Given the description of an element on the screen output the (x, y) to click on. 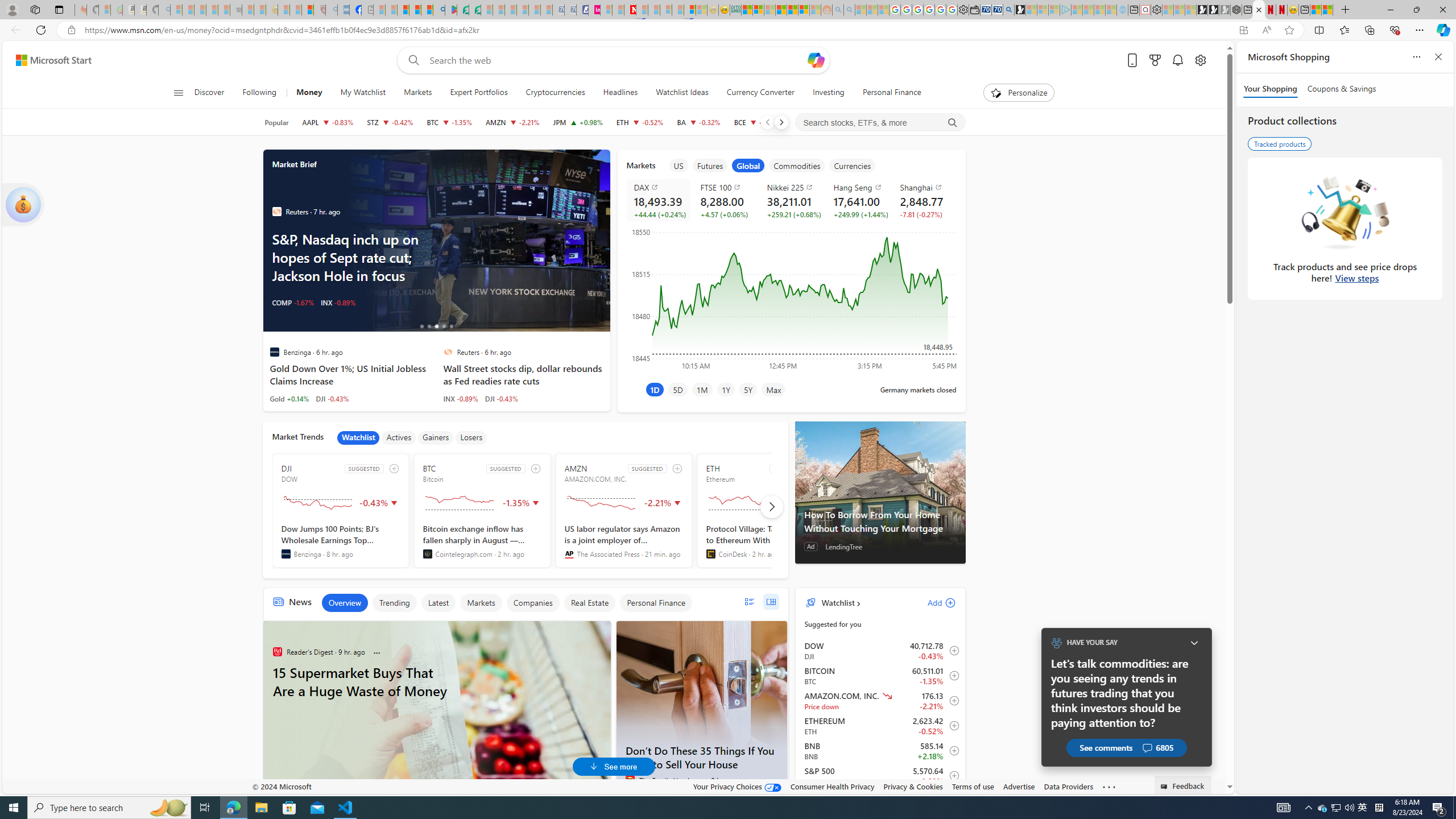
App available. Install Start Money (1243, 29)
Microsoft Start Gaming (1019, 9)
Expert Portfolios (478, 92)
Open settings (1199, 60)
Cointelegraph.com (427, 553)
item1 (678, 164)
Markets (481, 602)
Real Estate (589, 602)
Trusted Community Engagement and Contributions | Guidelines (641, 9)
